Given the description of an element on the screen output the (x, y) to click on. 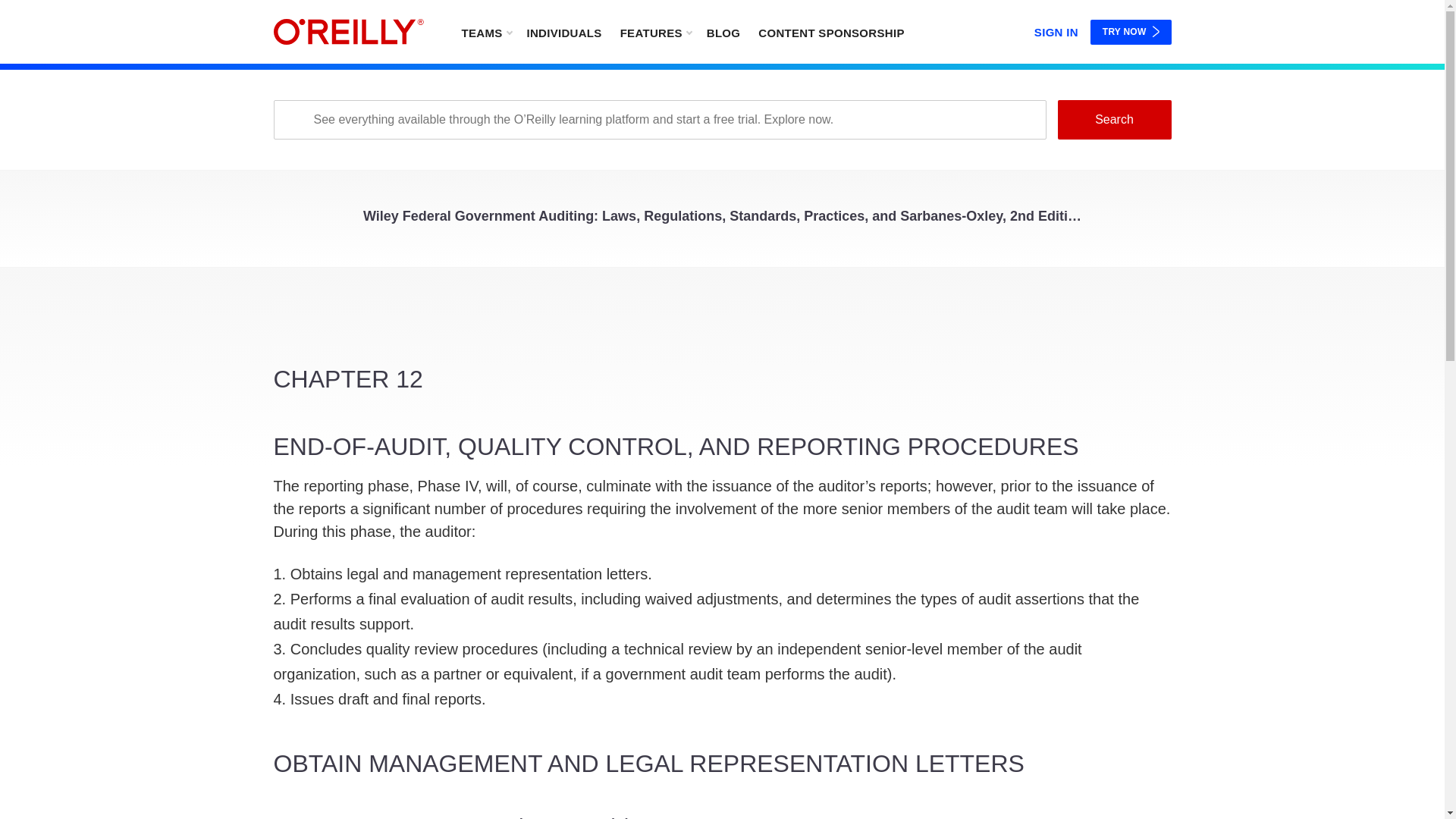
TRY NOW (1131, 32)
SIGN IN (1055, 29)
FEATURES (655, 31)
TEAMS (486, 31)
INDIVIDUALS (563, 31)
Search (1113, 119)
CONTENT SPONSORSHIP (831, 31)
Search (1113, 119)
Search (1113, 119)
BLOG (723, 31)
home page (348, 31)
